Given the description of an element on the screen output the (x, y) to click on. 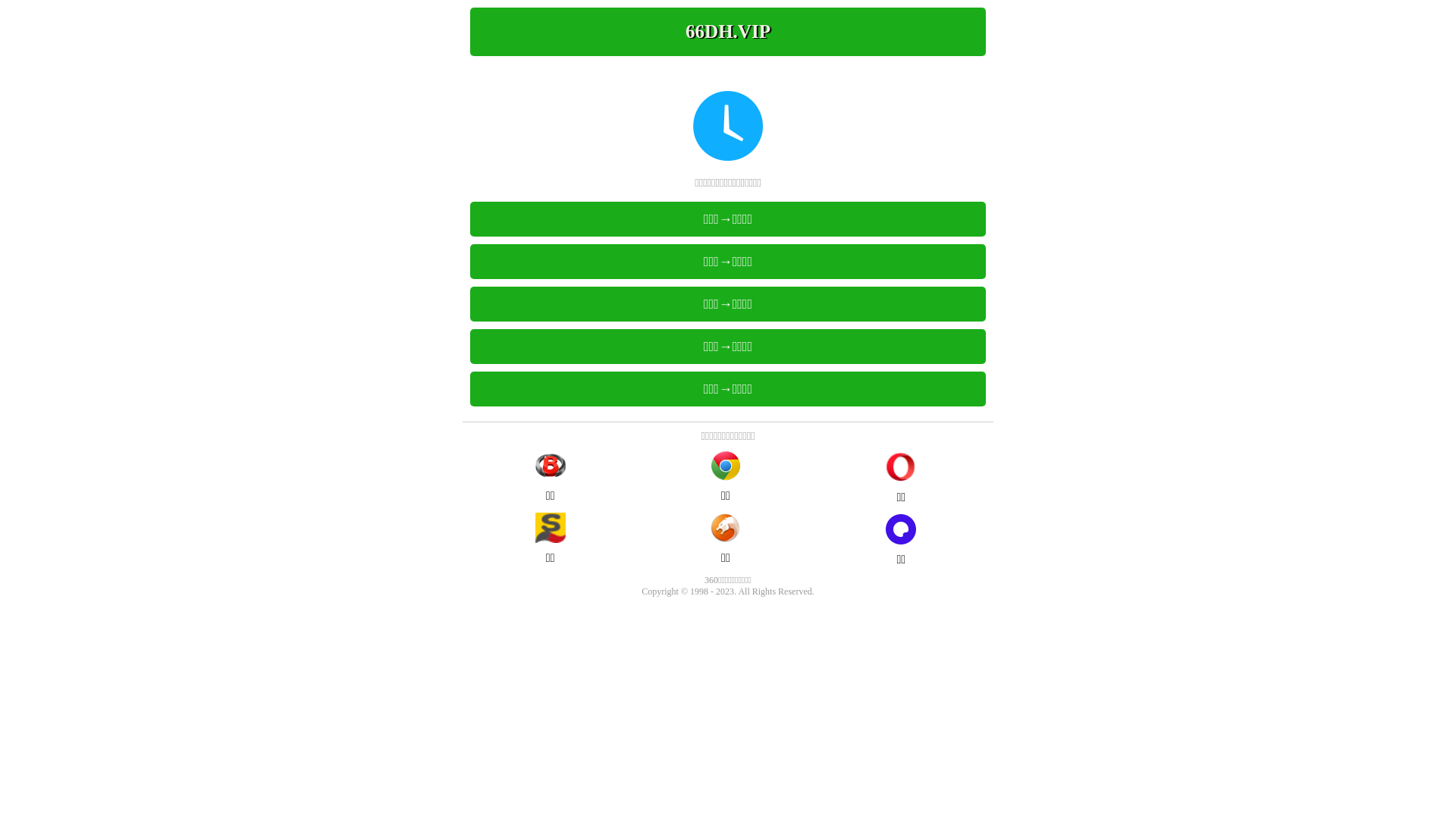
66DH.VIP Element type: text (727, 31)
